Given the description of an element on the screen output the (x, y) to click on. 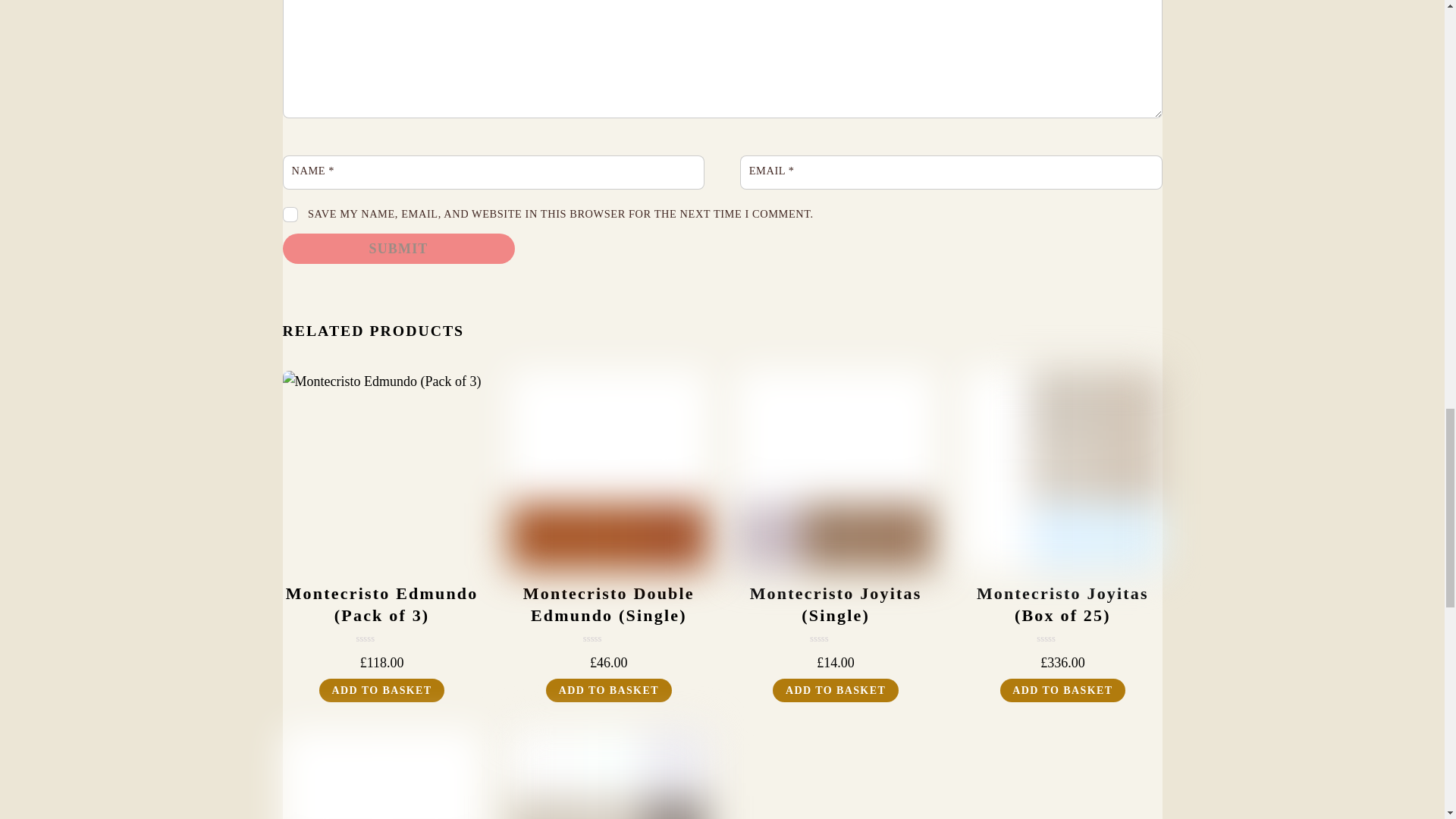
montecristo-petit-edmundo-single (381, 774)
montecristo-joyitas-single (835, 470)
montecristo-double-edmundo-single (608, 470)
montecristo-petit-edmundo-25 (608, 774)
yes (289, 214)
Submit (397, 248)
montecristo-joyitas-25 (1061, 470)
montecristo-edmundo-3 (381, 470)
